Given the description of an element on the screen output the (x, y) to click on. 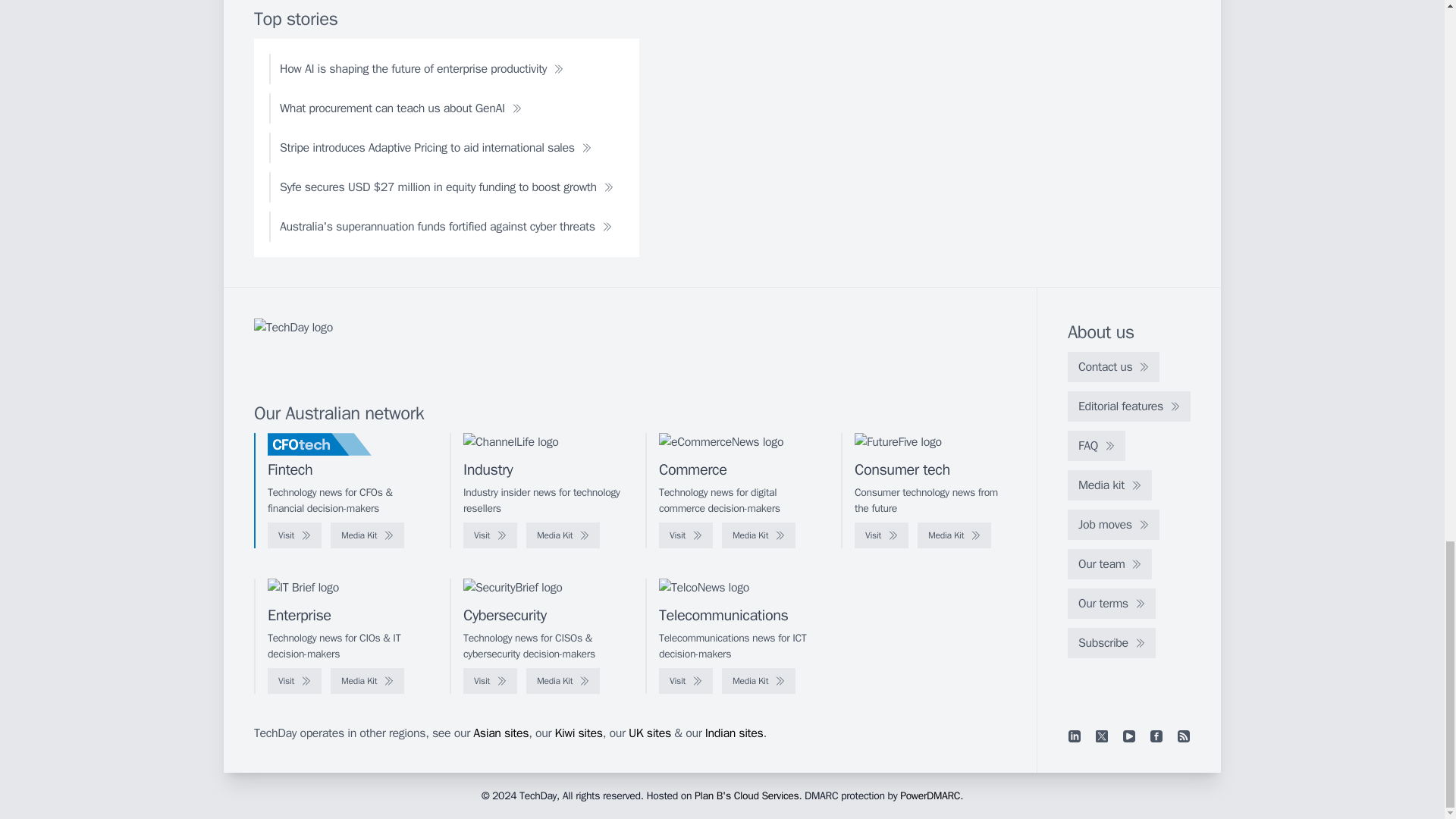
Visit (686, 534)
Media Kit (954, 534)
Media Kit (367, 534)
What procurement can teach us about GenAI (400, 108)
Visit (489, 534)
Visit (881, 534)
Visit (294, 534)
Media Kit (562, 534)
